Given the description of an element on the screen output the (x, y) to click on. 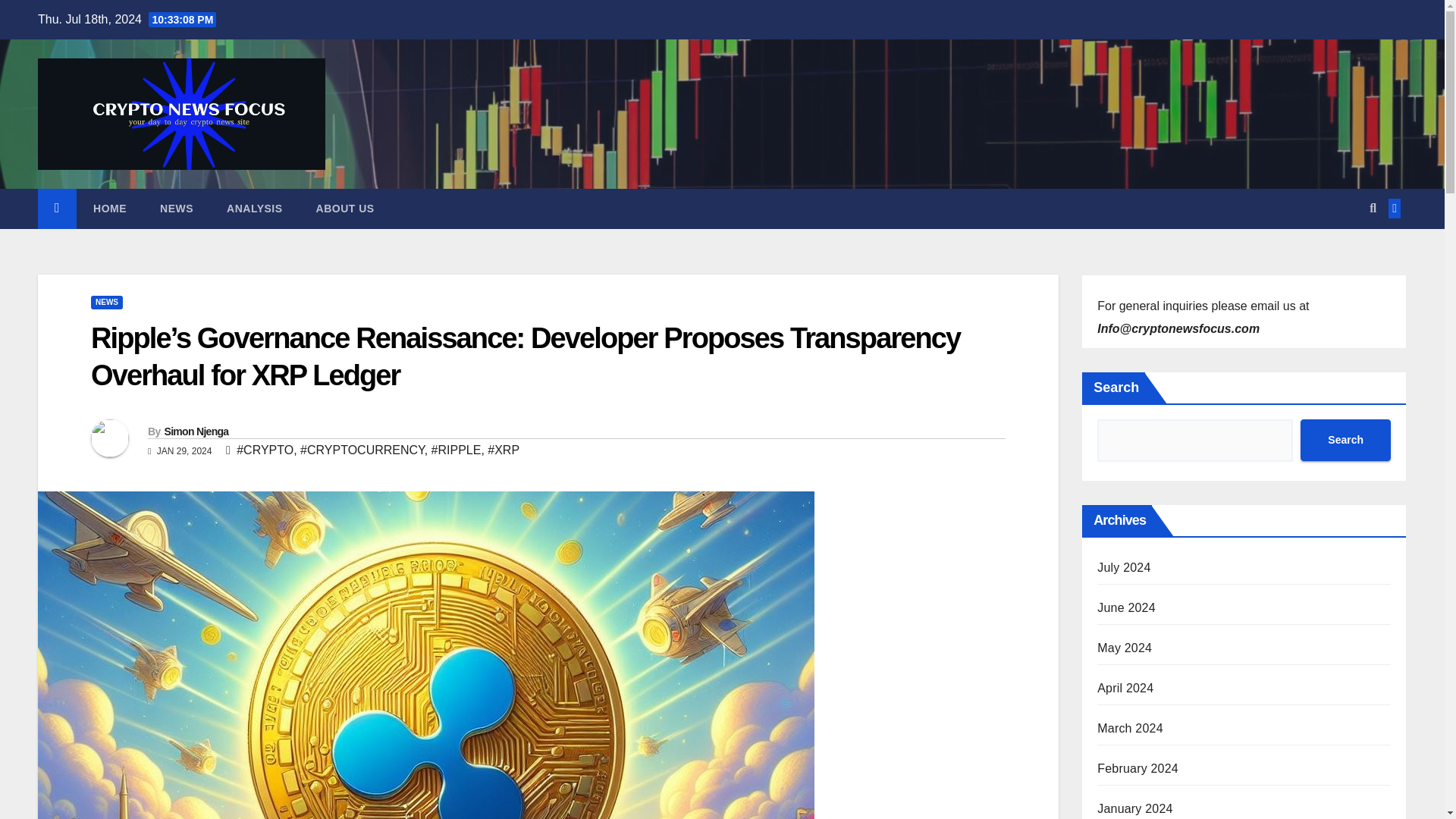
About Us (345, 208)
Home (109, 208)
ANALYSIS (254, 208)
ABOUT US (345, 208)
HOME (109, 208)
Simon Njenga (195, 431)
NEWS (106, 302)
News (175, 208)
NEWS (175, 208)
Analysis (254, 208)
